Given the description of an element on the screen output the (x, y) to click on. 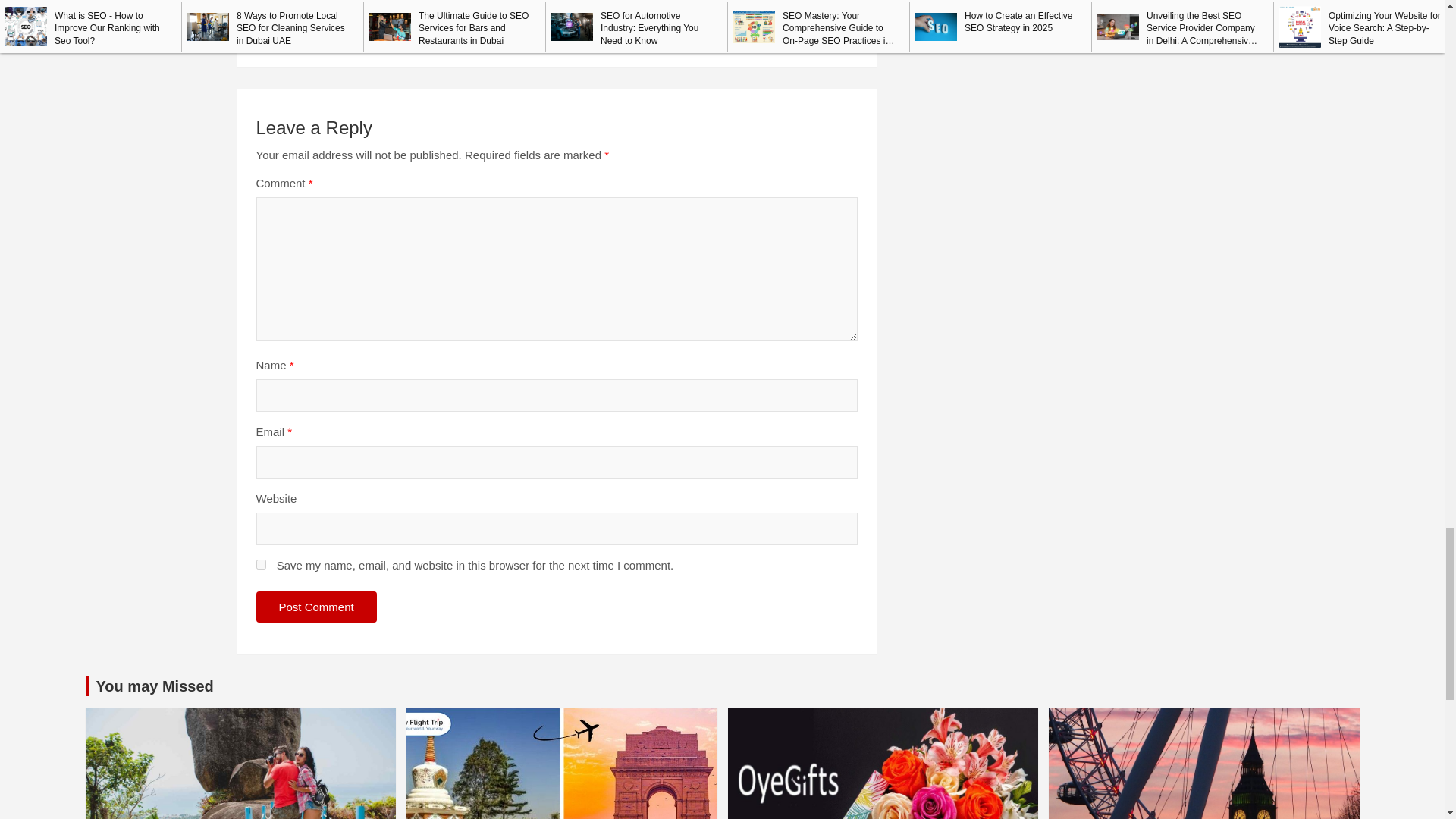
Post Comment (316, 606)
yes (261, 564)
